Given the description of an element on the screen output the (x, y) to click on. 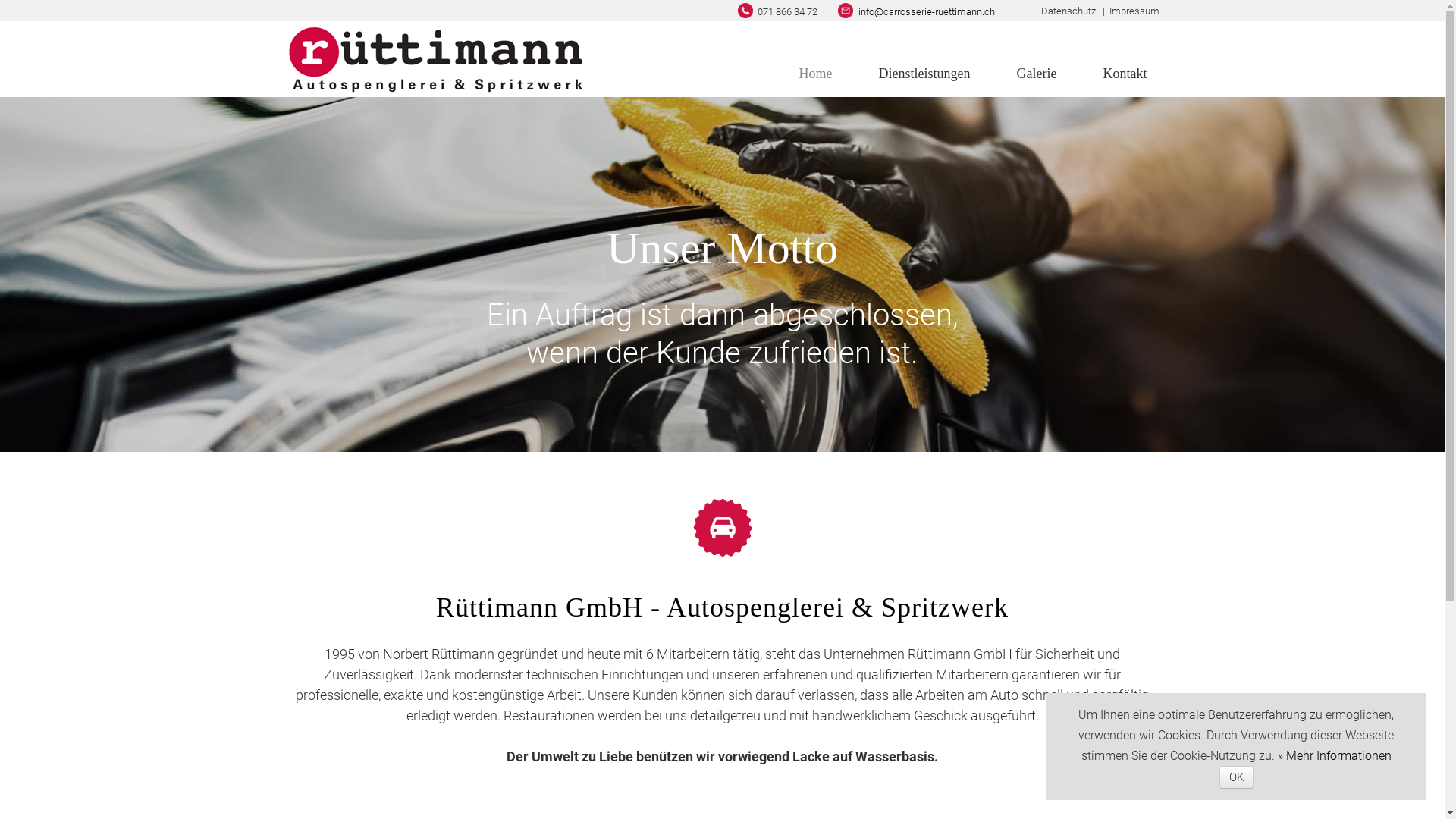
info@carrosserie-ruettimann.ch Element type: text (926, 11)
Home Element type: text (815, 73)
Kontakt Element type: text (1124, 73)
Datenschutz Element type: text (1067, 10)
Dienstleistungen Element type: text (924, 73)
Galerie Element type: text (1036, 73)
OK Element type: text (1236, 776)
Impressum Element type: text (1133, 10)
